Given the description of an element on the screen output the (x, y) to click on. 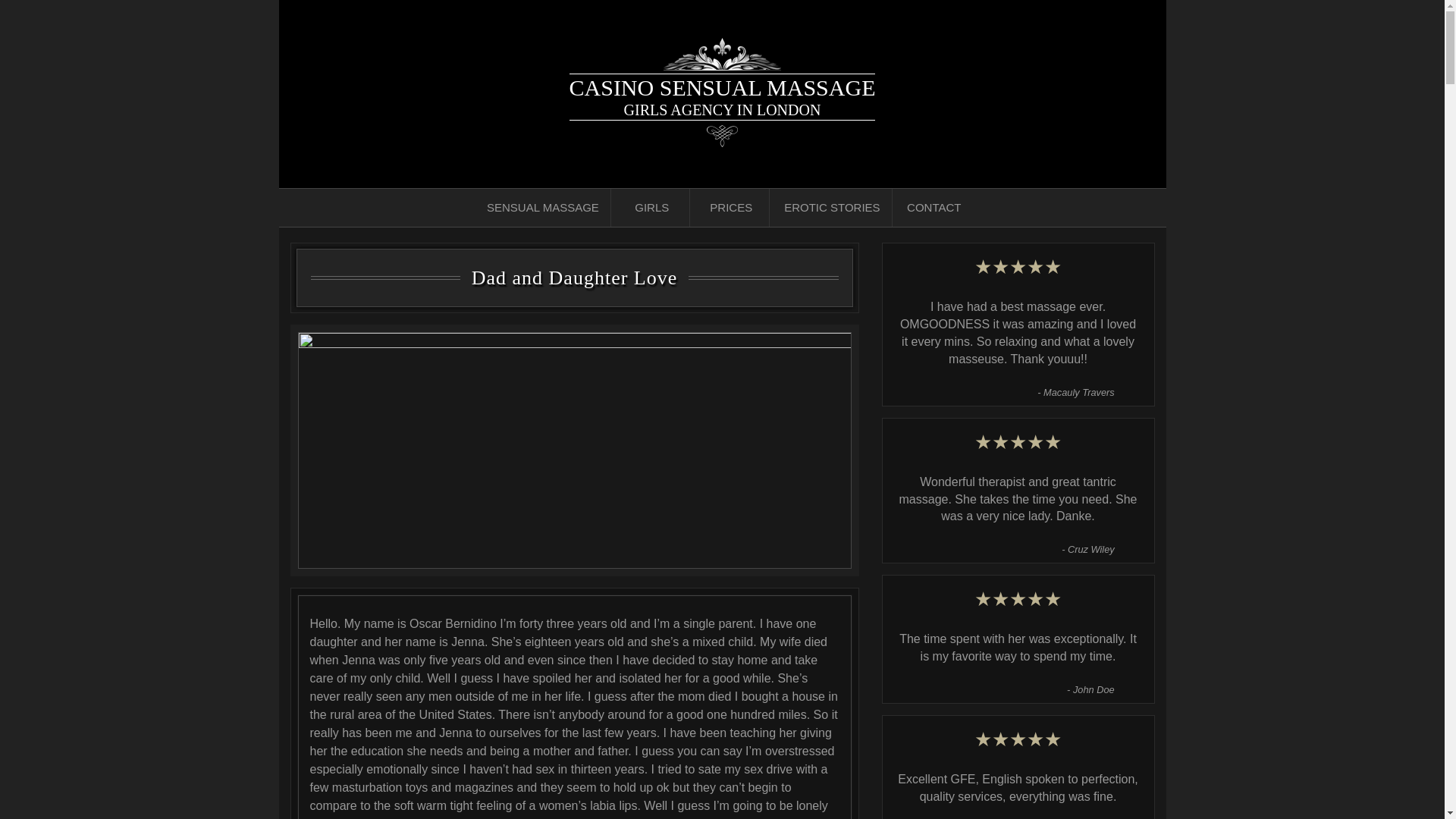
GIRLS (651, 207)
PRICES (731, 207)
Sensual massage (933, 207)
SENSUAL MASSAGE (543, 207)
Erotic stories (543, 207)
Contact (832, 207)
Girls (933, 207)
Prices (651, 207)
EROTIC STORIES (731, 207)
